Given the description of an element on the screen output the (x, y) to click on. 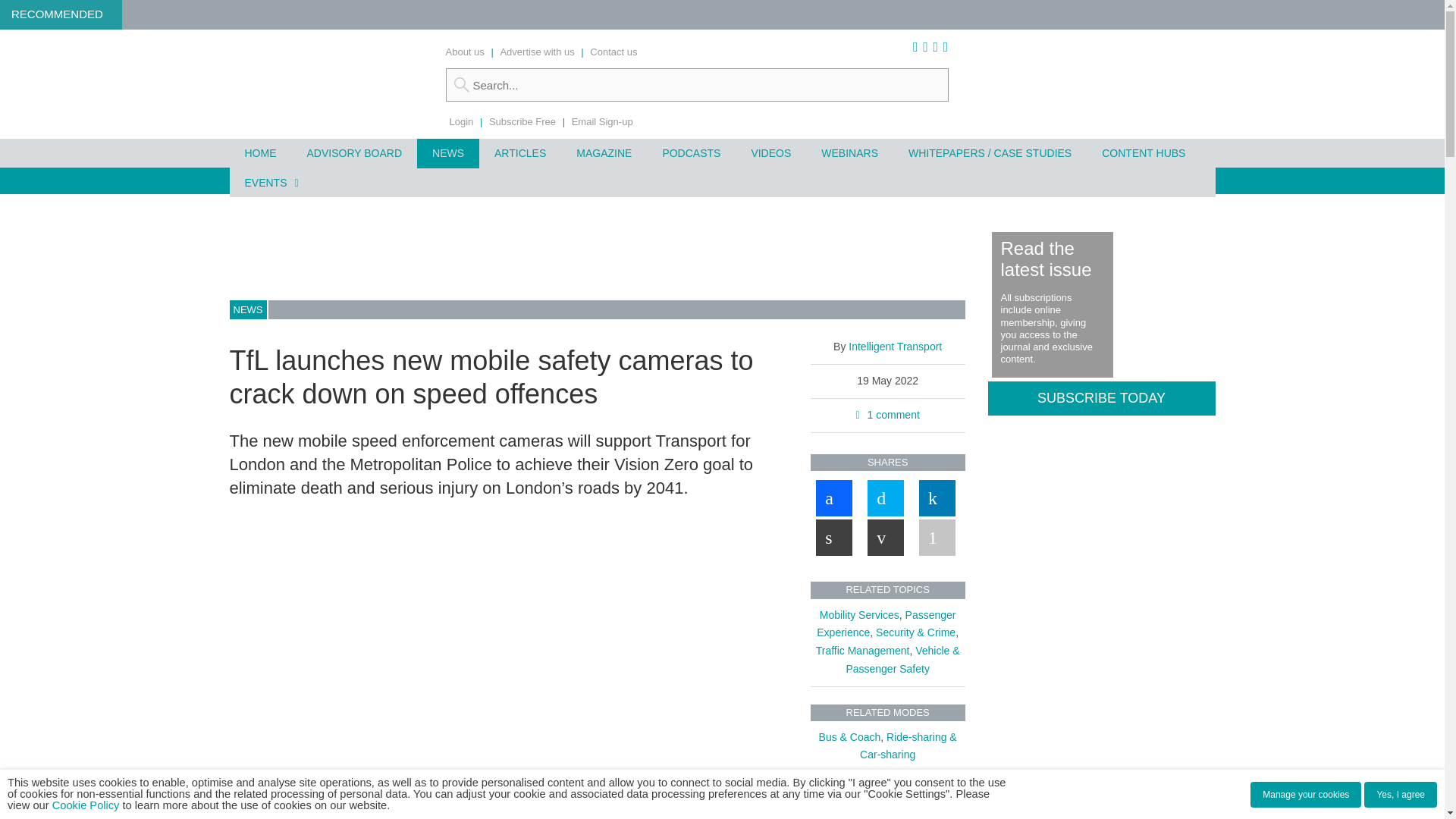
Subscribe Free (522, 121)
WEBINARS (849, 152)
close (440, 813)
About us (464, 51)
ARTICLES (519, 152)
CONTENT HUBS (1142, 152)
PODCASTS (690, 152)
NEWS (447, 152)
Email Sign-up (602, 121)
Advertise with us (536, 51)
ADVISORY BOARD (353, 152)
Login (460, 121)
HOME (259, 152)
MAGAZINE (603, 152)
Contact us (613, 51)
